Given the description of an element on the screen output the (x, y) to click on. 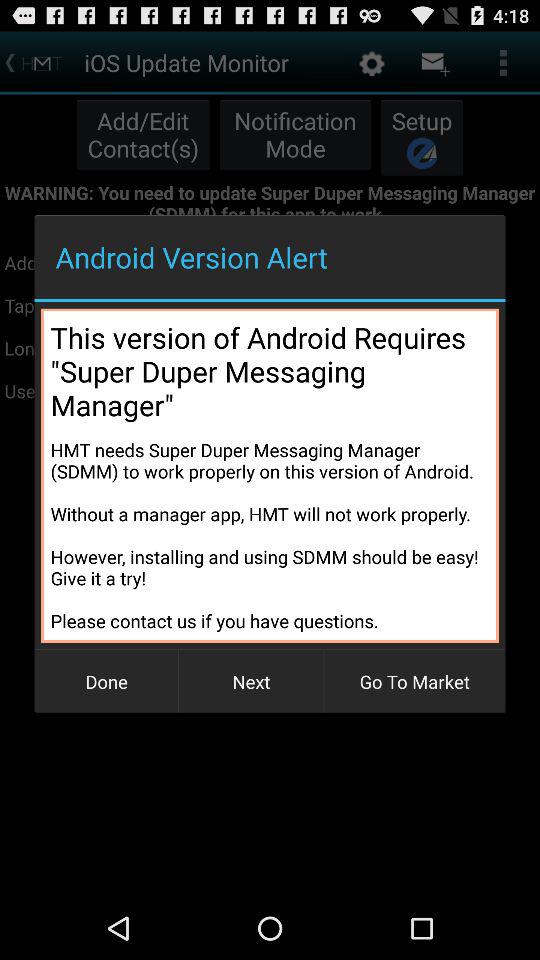
choose item at the bottom right corner (414, 681)
